Given the description of an element on the screen output the (x, y) to click on. 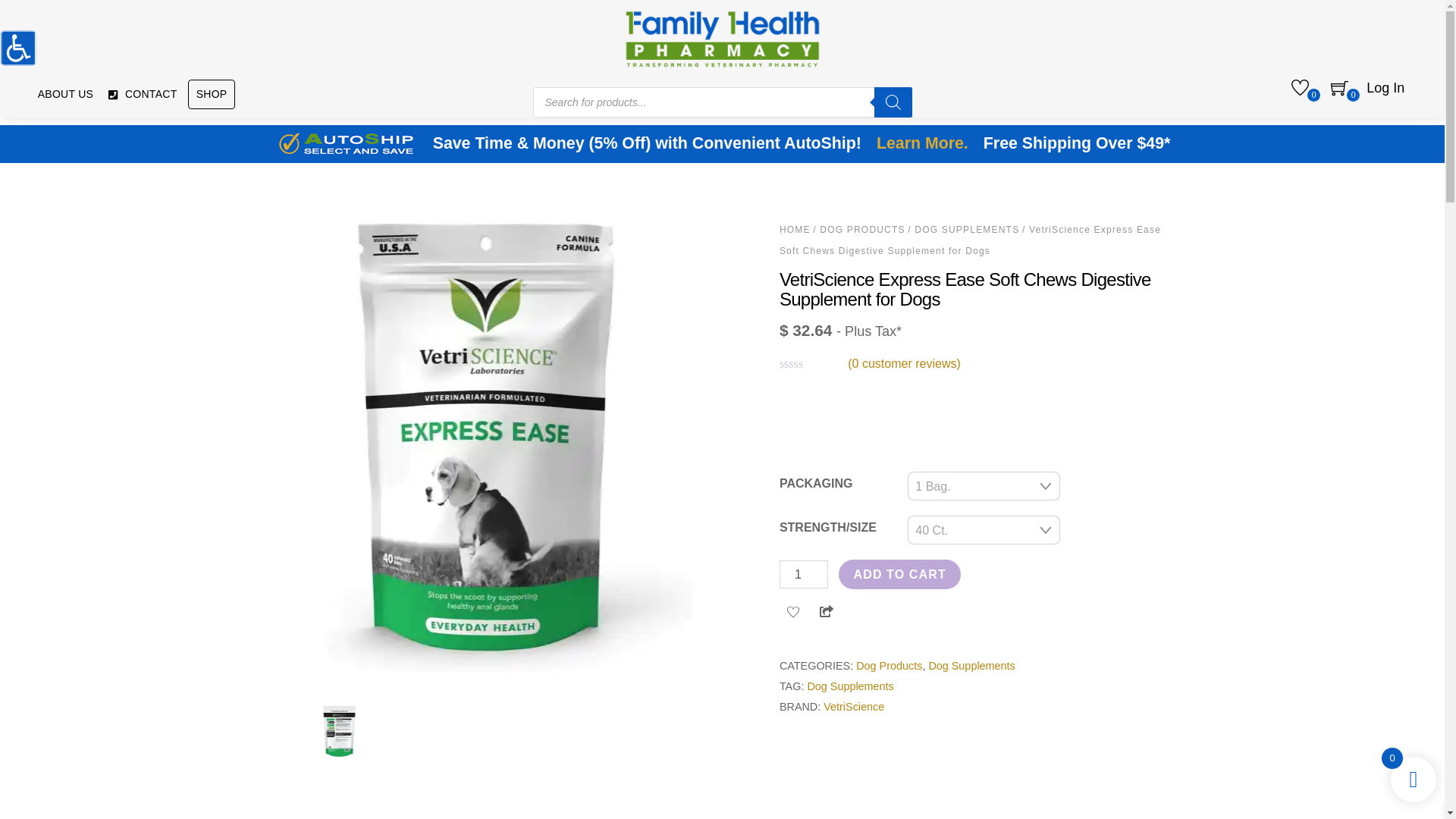
Log In (1384, 88)
Learn More. (922, 143)
SHOP (211, 93)
Dog Products (888, 665)
Dog Supplements (849, 686)
VetriScience (853, 706)
HOME (794, 229)
ABOUT US (65, 94)
1 (803, 574)
Dog Supplements (971, 665)
